Given the description of an element on the screen output the (x, y) to click on. 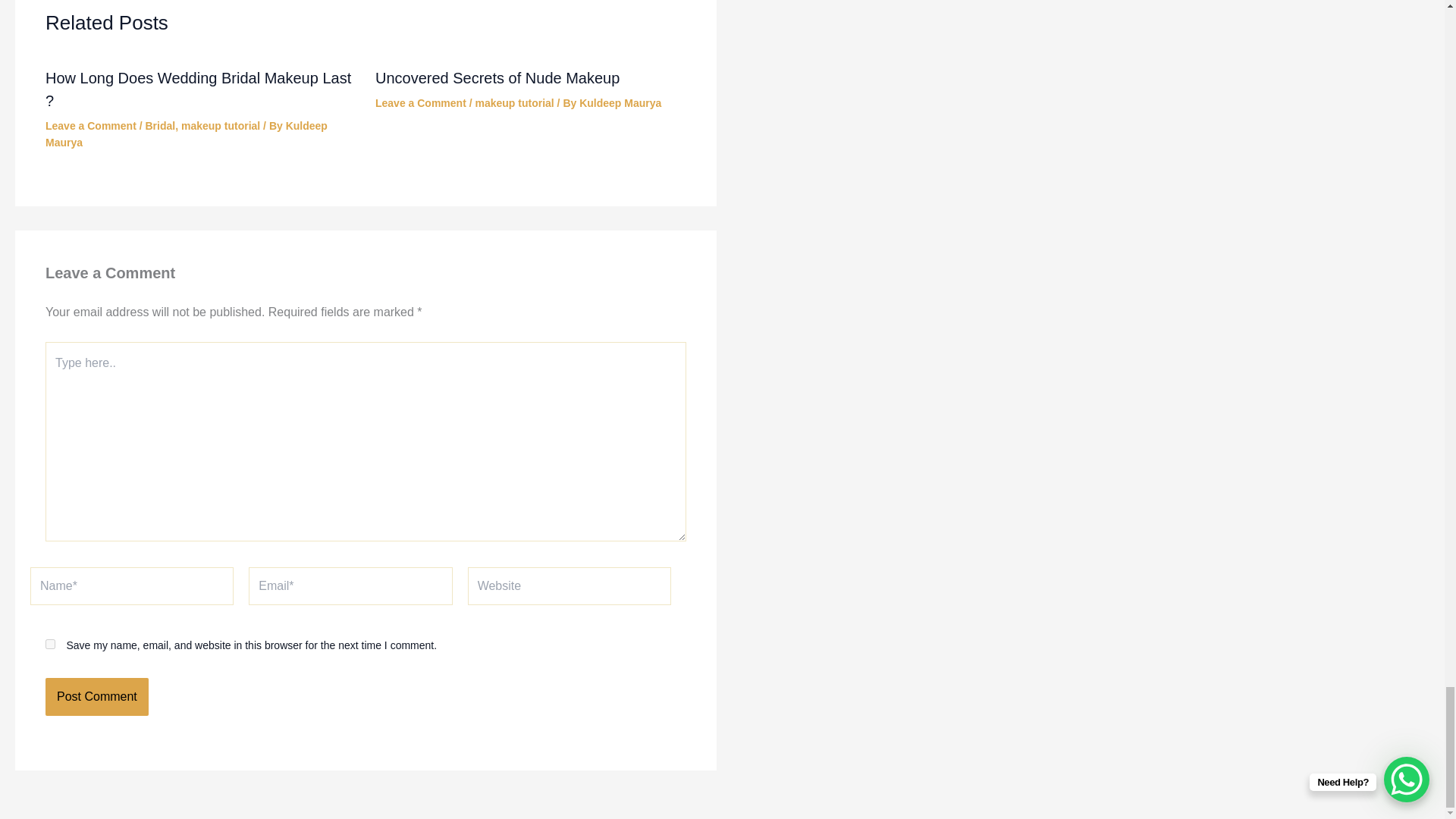
View all posts by Kuldeep Maurya (620, 102)
Post Comment (96, 696)
yes (50, 644)
View all posts by Kuldeep Maurya (186, 133)
